Given the description of an element on the screen output the (x, y) to click on. 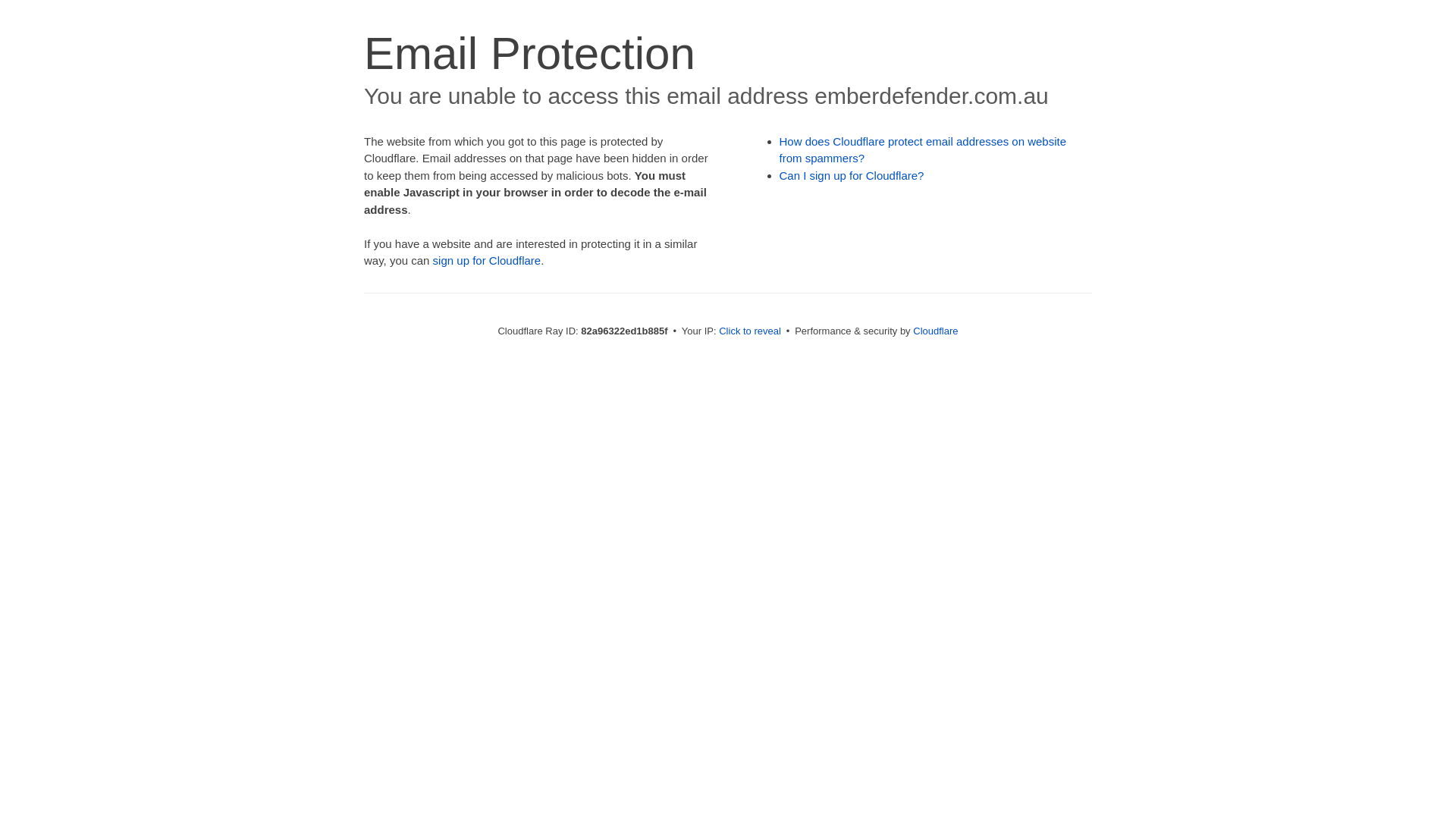
Can I sign up for Cloudflare? Element type: text (851, 175)
Click to reveal Element type: text (749, 330)
Cloudflare Element type: text (935, 330)
sign up for Cloudflare Element type: text (487, 260)
